Given the description of an element on the screen output the (x, y) to click on. 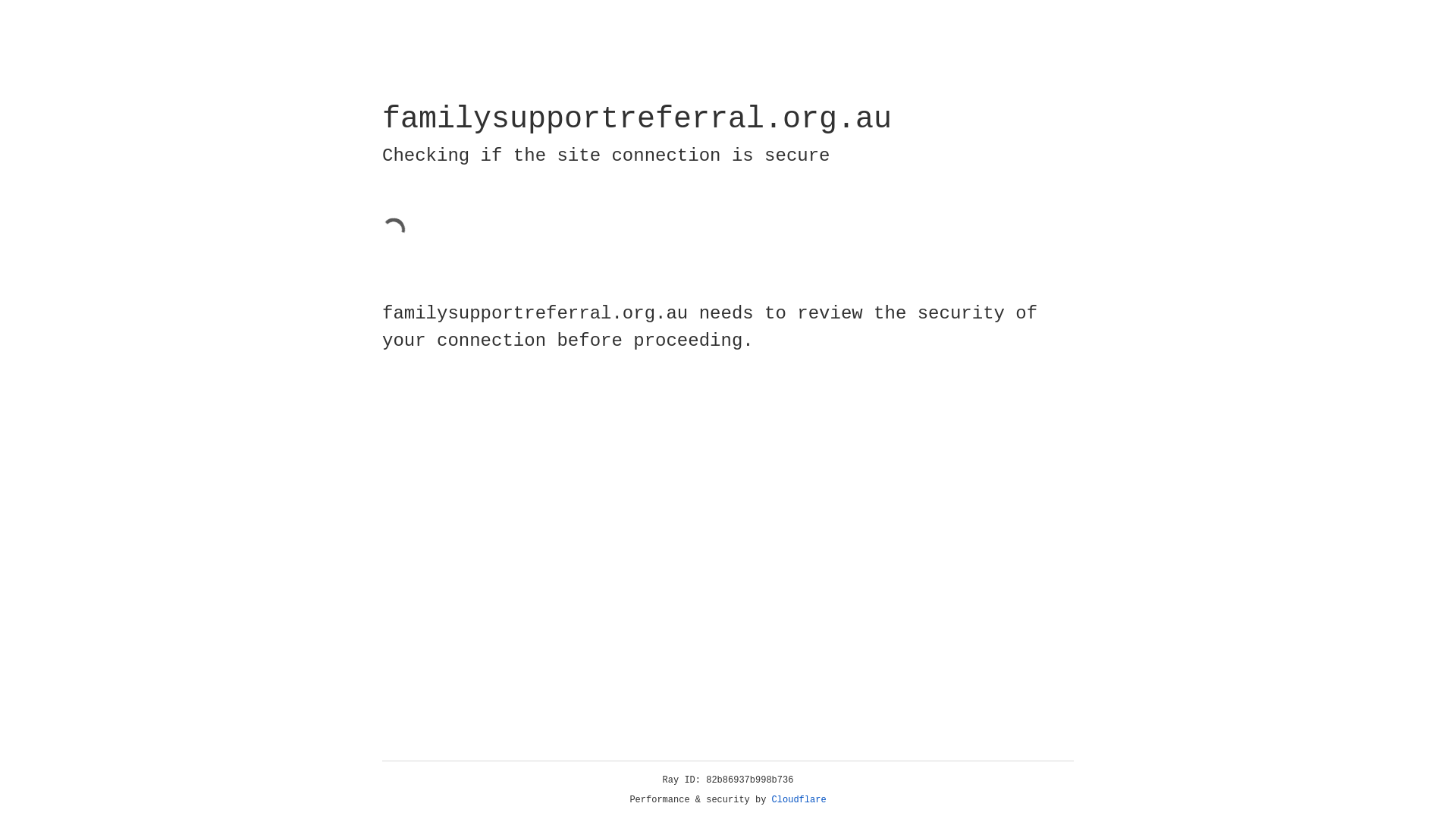
Cloudflare Element type: text (798, 799)
